Given the description of an element on the screen output the (x, y) to click on. 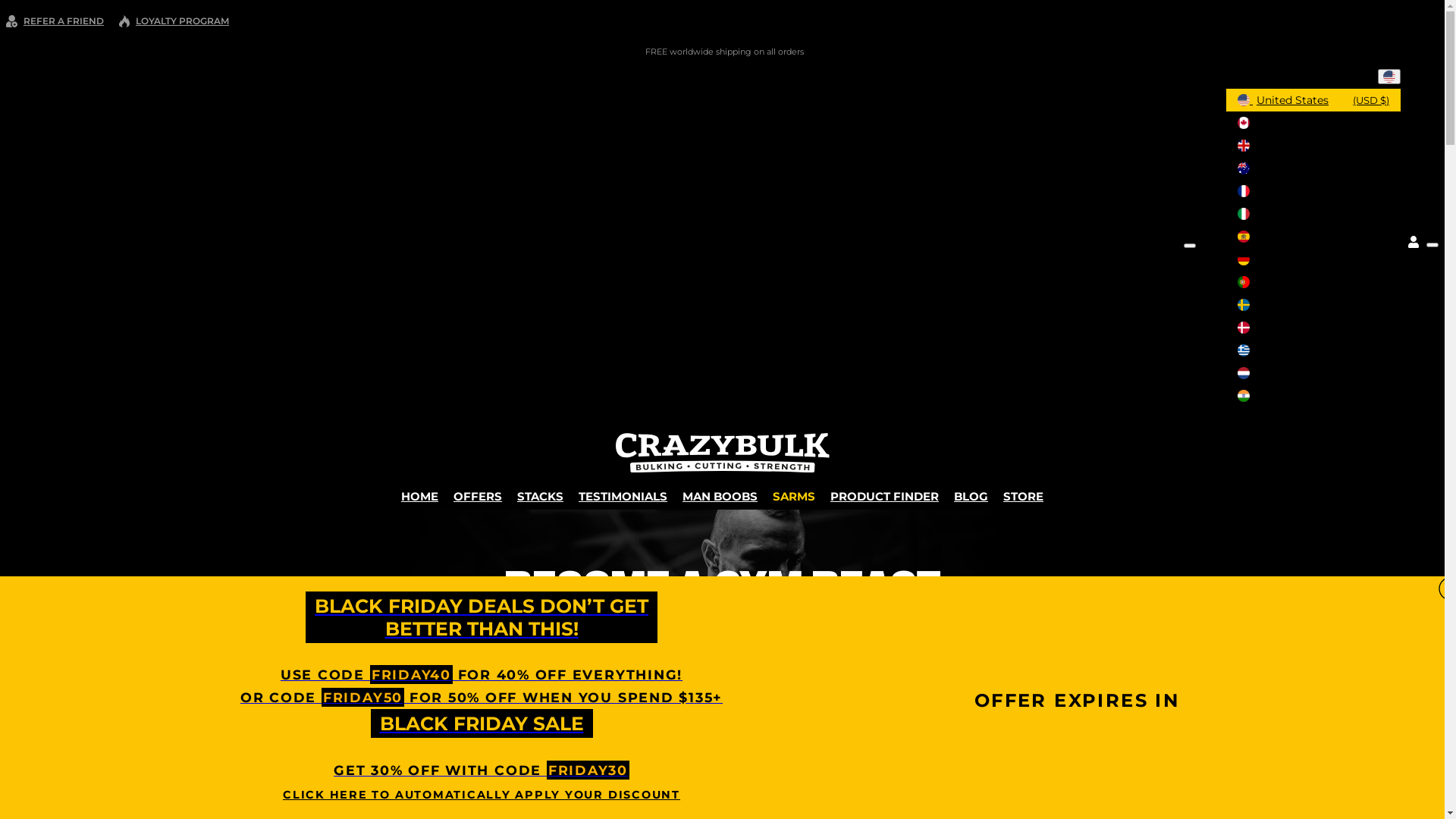
LOYALTY PROGRAM Element type: text (174, 21)
PRODUCT FINDER Element type: text (884, 496)
BLOG Element type: text (970, 496)
  Denmark
(DKK kr) Element type: text (1313, 327)
Chat Element type: hover (1406, 778)
STACKS Element type: text (540, 496)
TESTIMONIALS Element type: text (622, 496)
  Australia
(AUD $) Element type: text (1313, 167)
Submit Element type: text (21, 7)
STORE Element type: text (1023, 496)
OFFERS Element type: text (477, 496)
  Element type: text (1388, 76)
CLICK HERE TO AUTOMATICALLY APPLY YOUR DISCOUNT Element type: text (481, 794)
  Sweden
(SEK kr) Element type: text (1313, 304)
  Canada
(CAD $) Element type: text (1313, 122)
MAN BOOBS Element type: text (719, 496)
REFER A FRIEND Element type: text (54, 21)
  United States
(USD $) Element type: text (1313, 99)
HOME Element type: text (419, 496)
SARMS Element type: text (793, 496)
